Given the description of an element on the screen output the (x, y) to click on. 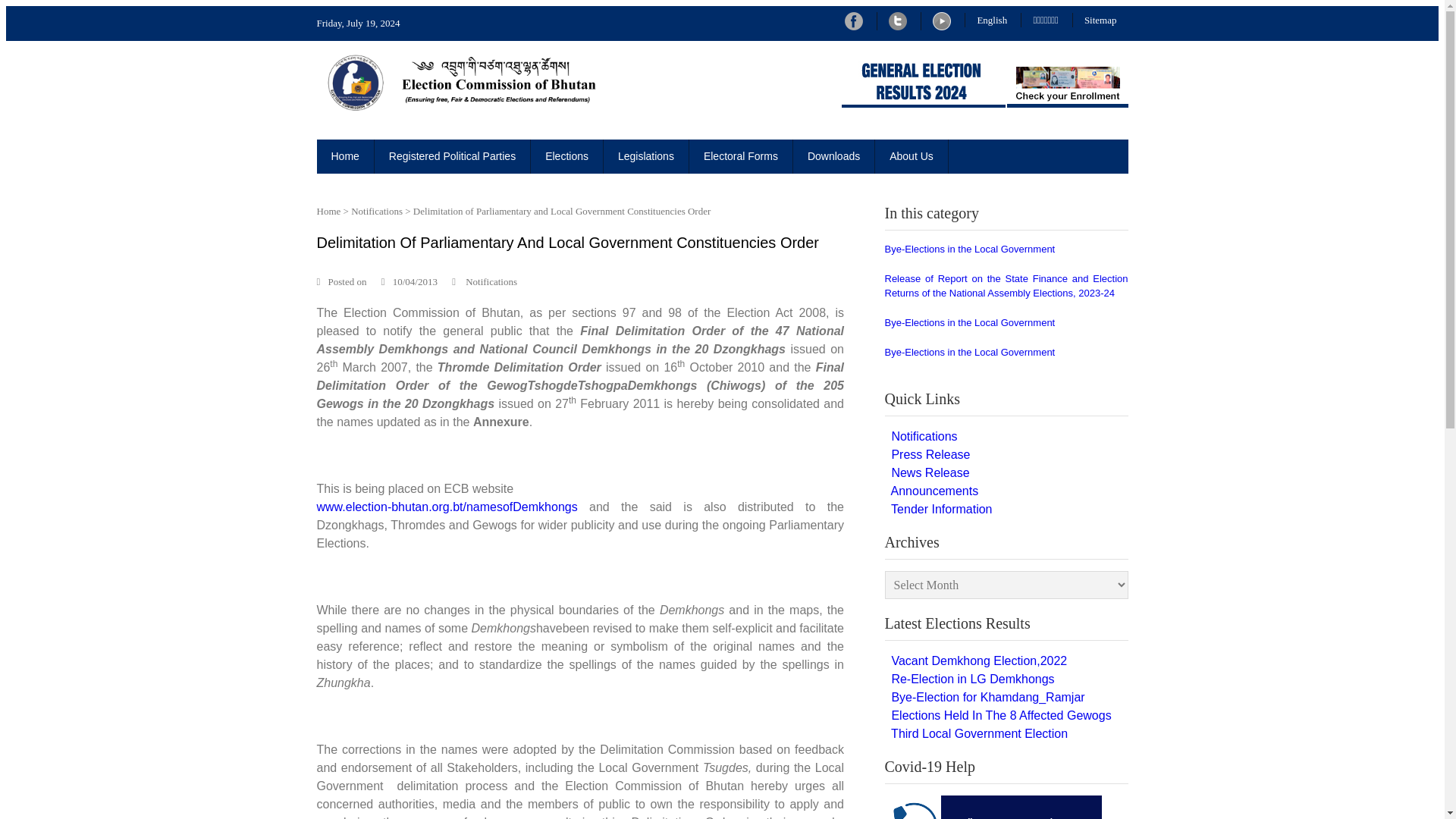
Electoral Forms (740, 156)
English (991, 19)
Bye-Elections in the Local Government (968, 351)
About Us (912, 156)
Bye-Elections in the Local Government (968, 248)
Bye-Elections in the Local Government (968, 322)
Sitemap (1100, 19)
Registered Political Parties (452, 156)
Downloads (834, 156)
Home (345, 156)
Election Commission of Bhutan (398, 127)
Legislations (646, 156)
Elections (567, 156)
